Given the description of an element on the screen output the (x, y) to click on. 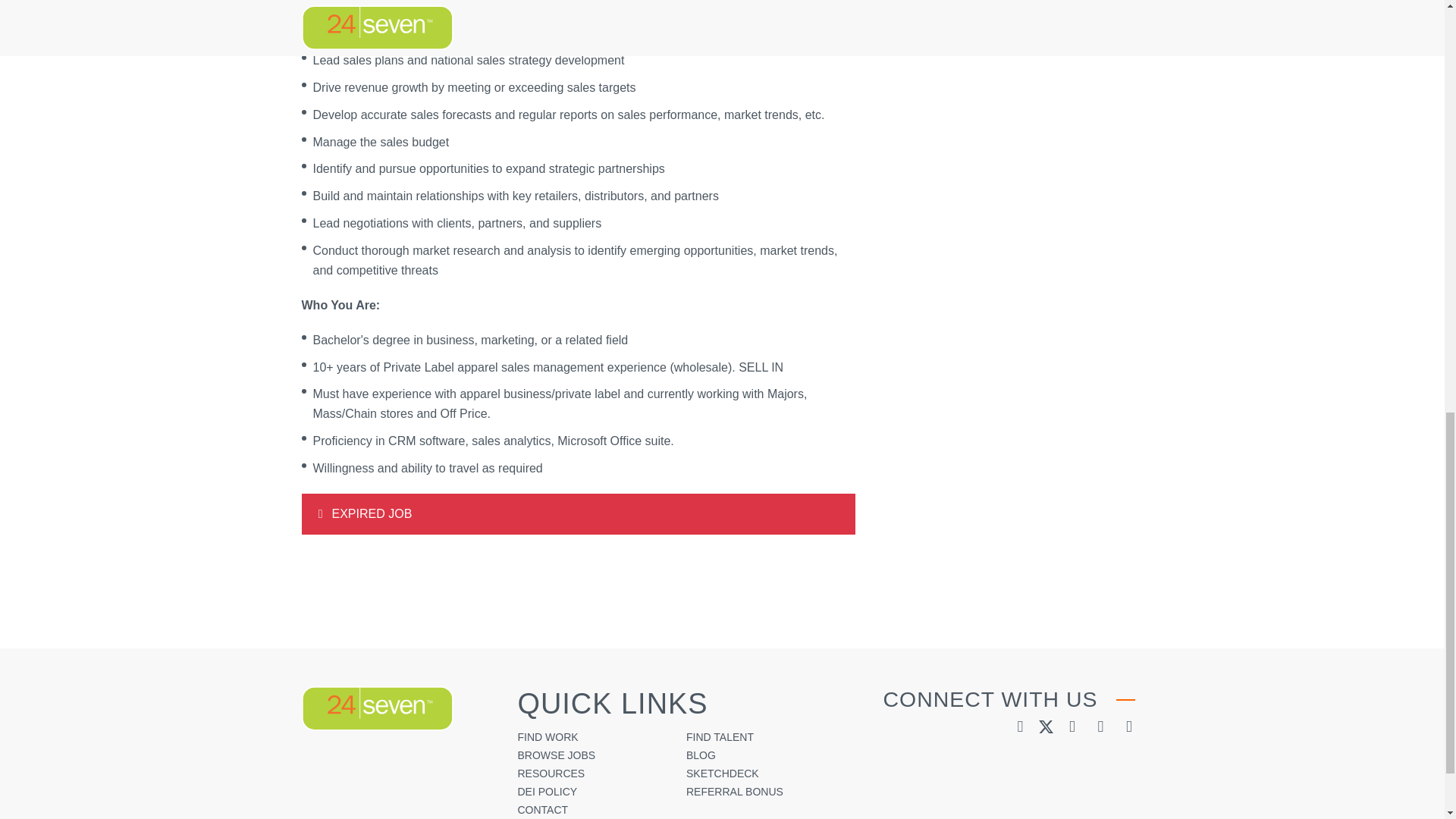
CONTACT (541, 809)
FIND WORK (547, 736)
24 Seven (376, 708)
FIND TALENT (719, 736)
BROWSE JOBS (555, 755)
BLOG (700, 755)
24 Seven Talent (376, 709)
24 Seven (376, 709)
RESOURCES (550, 773)
SKETCHDECK (721, 773)
